Given the description of an element on the screen output the (x, y) to click on. 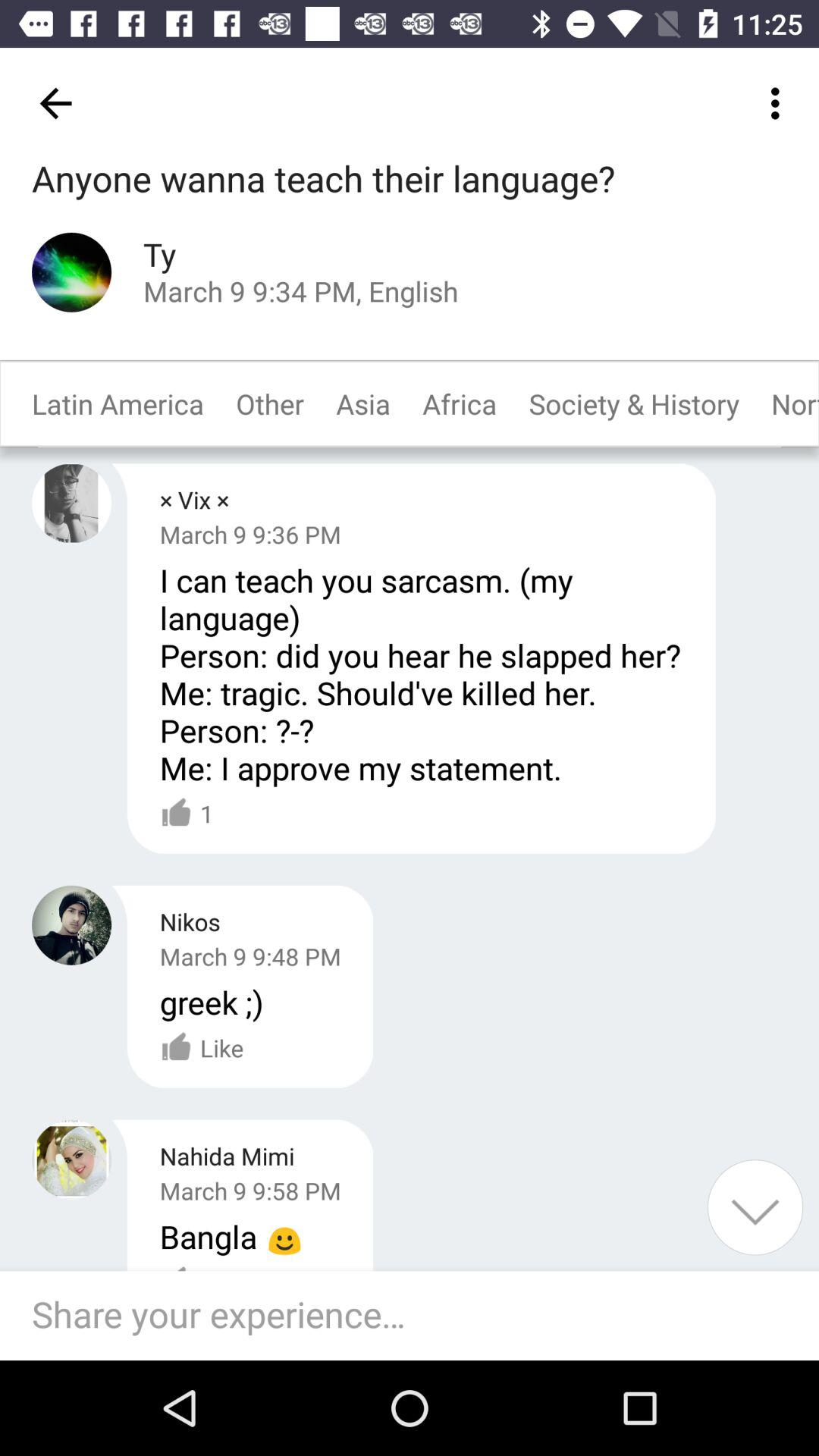
view selected user (71, 1159)
